Given the description of an element on the screen output the (x, y) to click on. 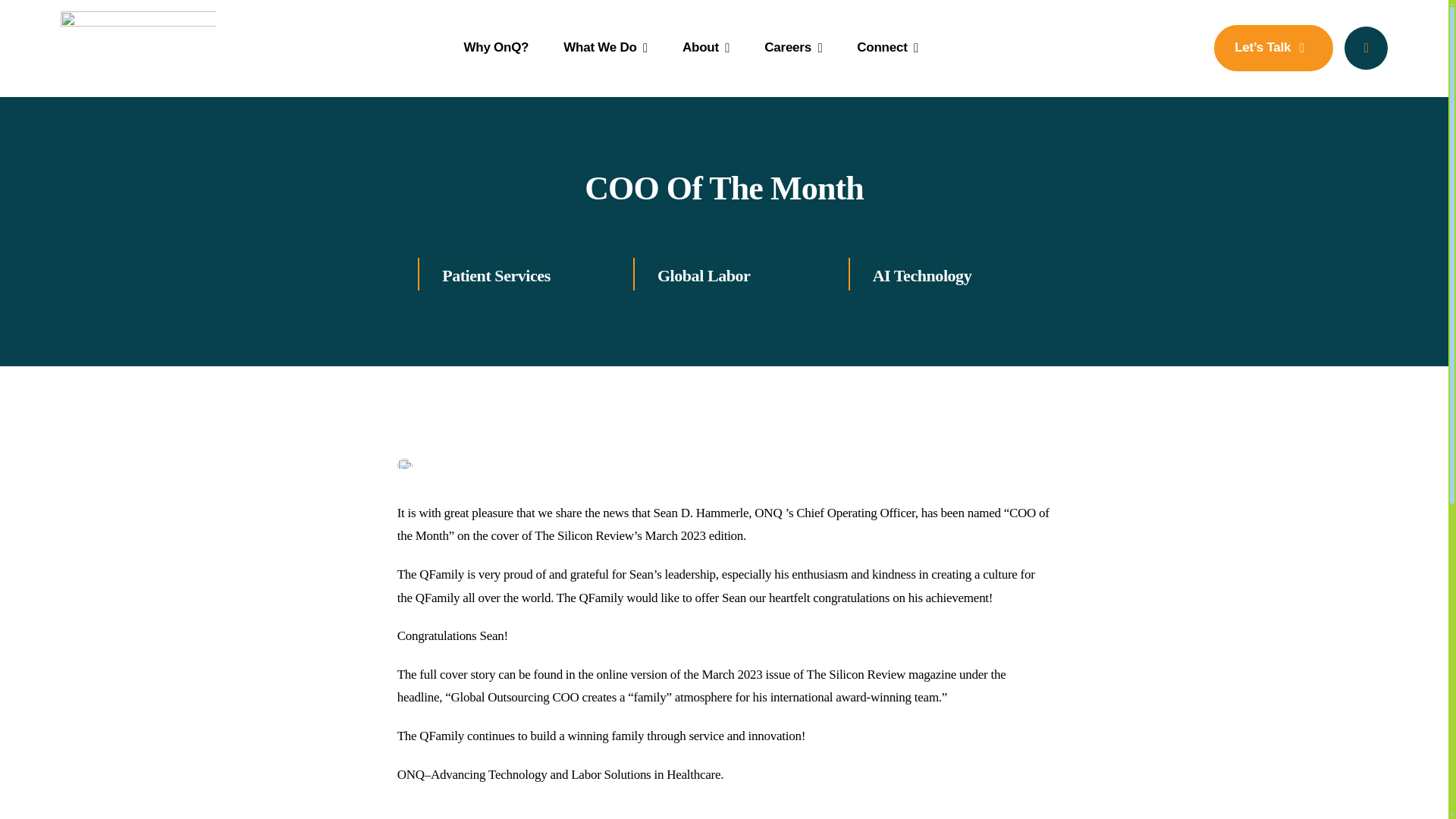
Connect (887, 47)
WhatsApp Image 2023-03-21 at 3.58.30 PM (404, 463)
What We Do (605, 47)
Why OnQ? (495, 47)
Careers (793, 47)
About (705, 47)
